Given the description of an element on the screen output the (x, y) to click on. 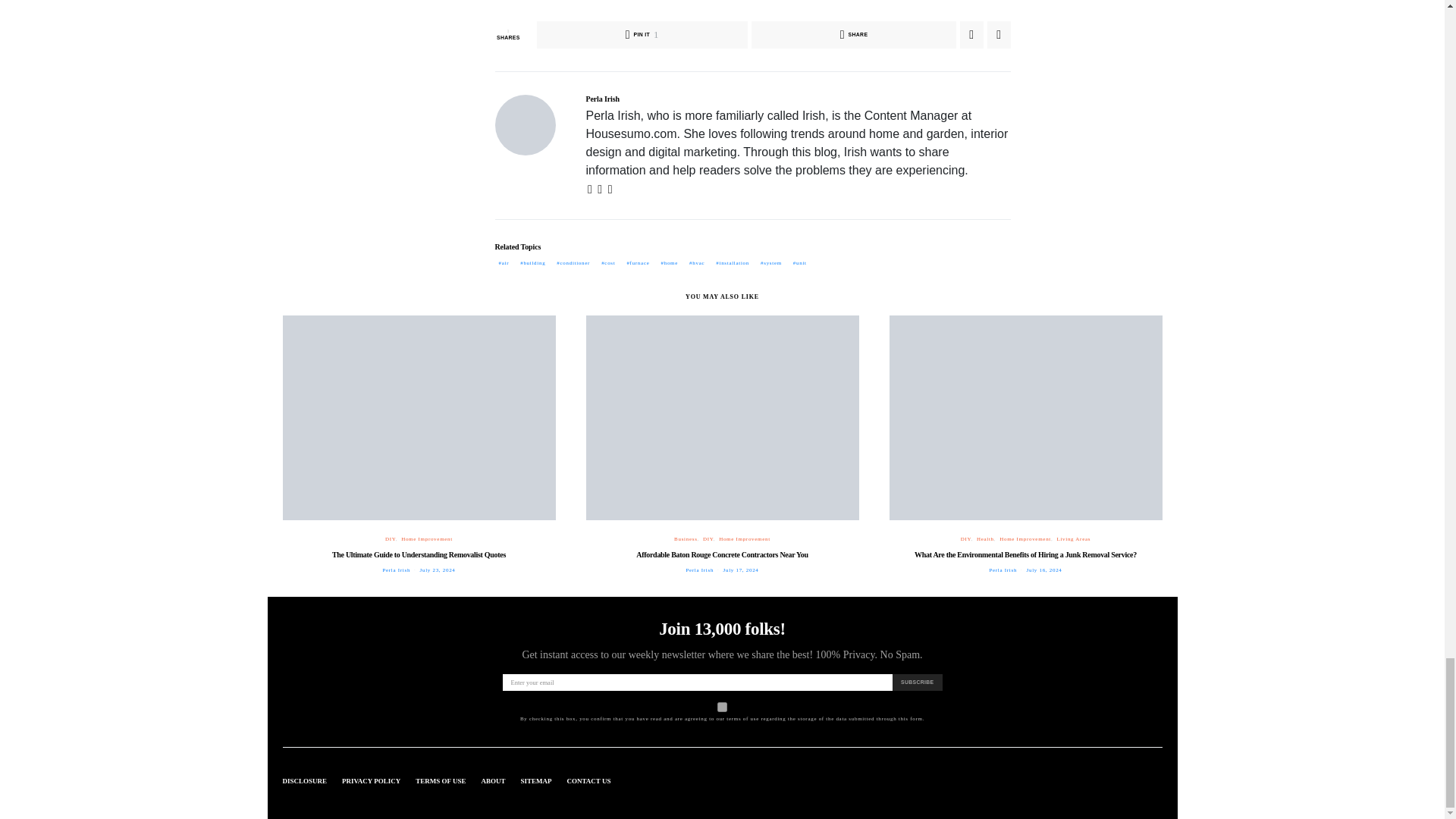
View all posts by Perla Irish (395, 570)
on (722, 706)
View all posts by Perla Irish (699, 570)
View all posts by Perla Irish (1002, 570)
